Given the description of an element on the screen output the (x, y) to click on. 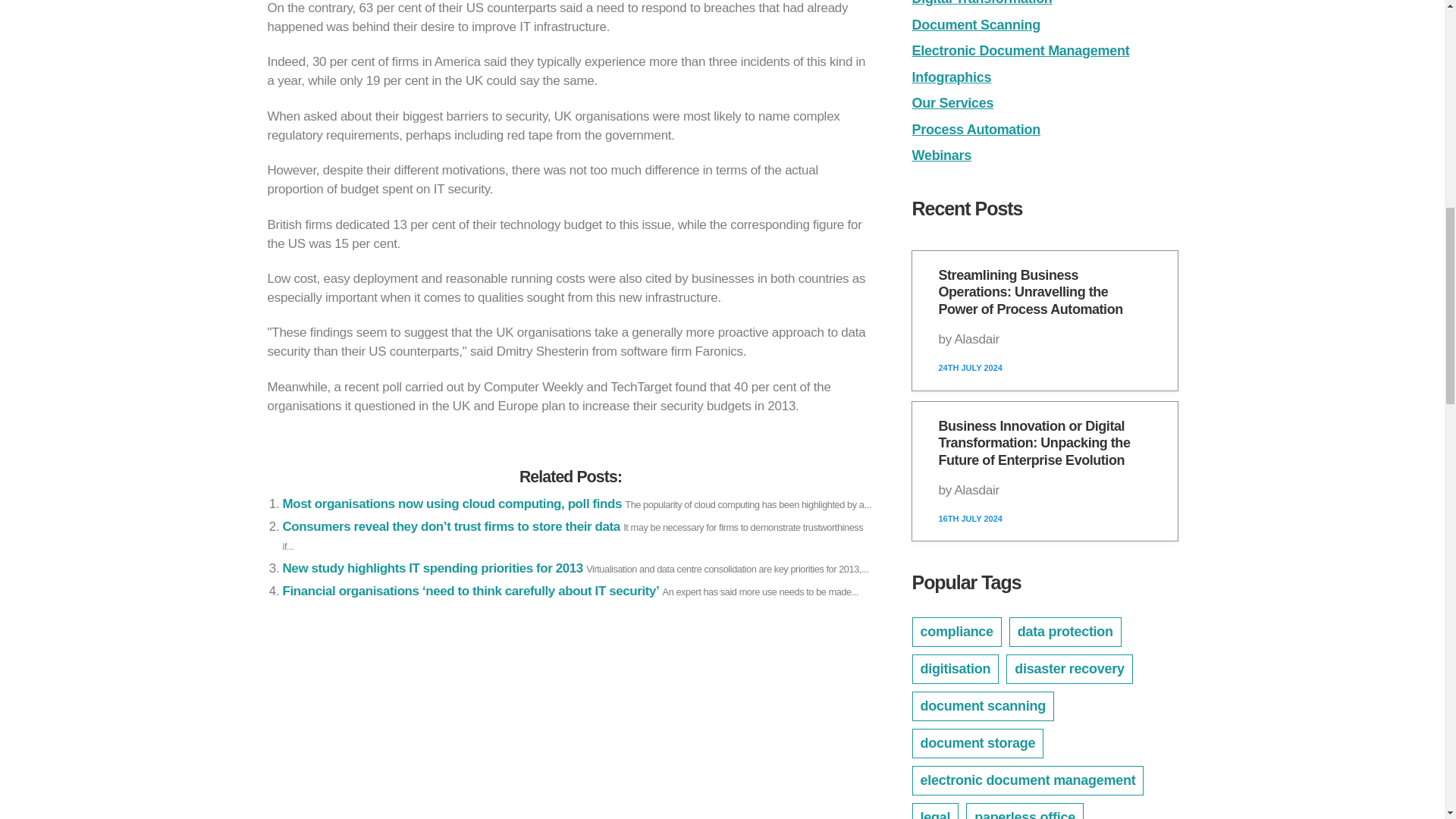
New study highlights IT spending priorities for 2013 (432, 568)
Most organisations now using cloud computing, poll finds (451, 503)
